Given the description of an element on the screen output the (x, y) to click on. 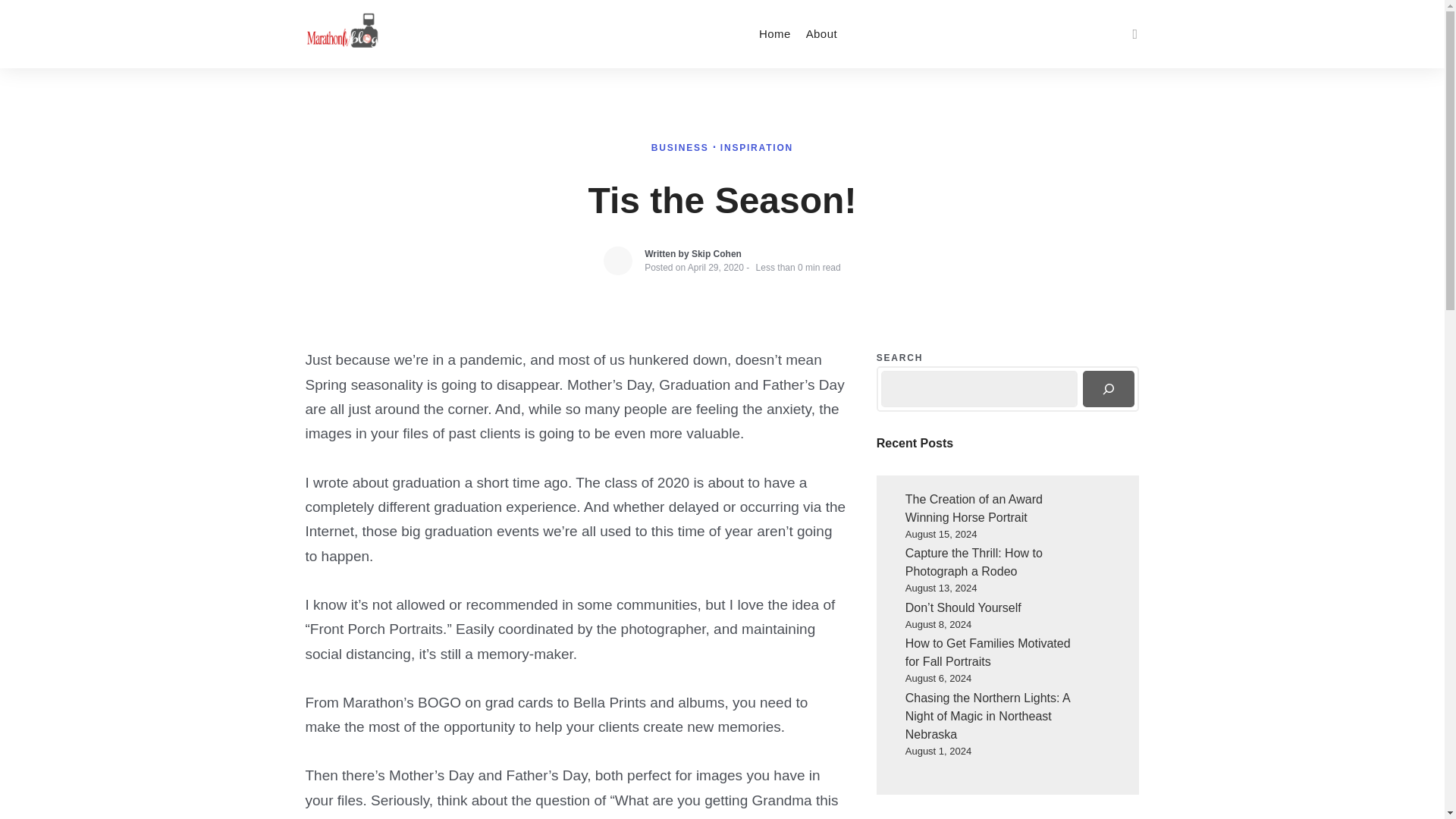
Home (774, 33)
About (820, 33)
BUSINESS (681, 147)
April 29, 2020 (715, 267)
Home (774, 33)
INSPIRATION (756, 147)
About (820, 33)
Skip Cohen (716, 253)
